Given the description of an element on the screen output the (x, y) to click on. 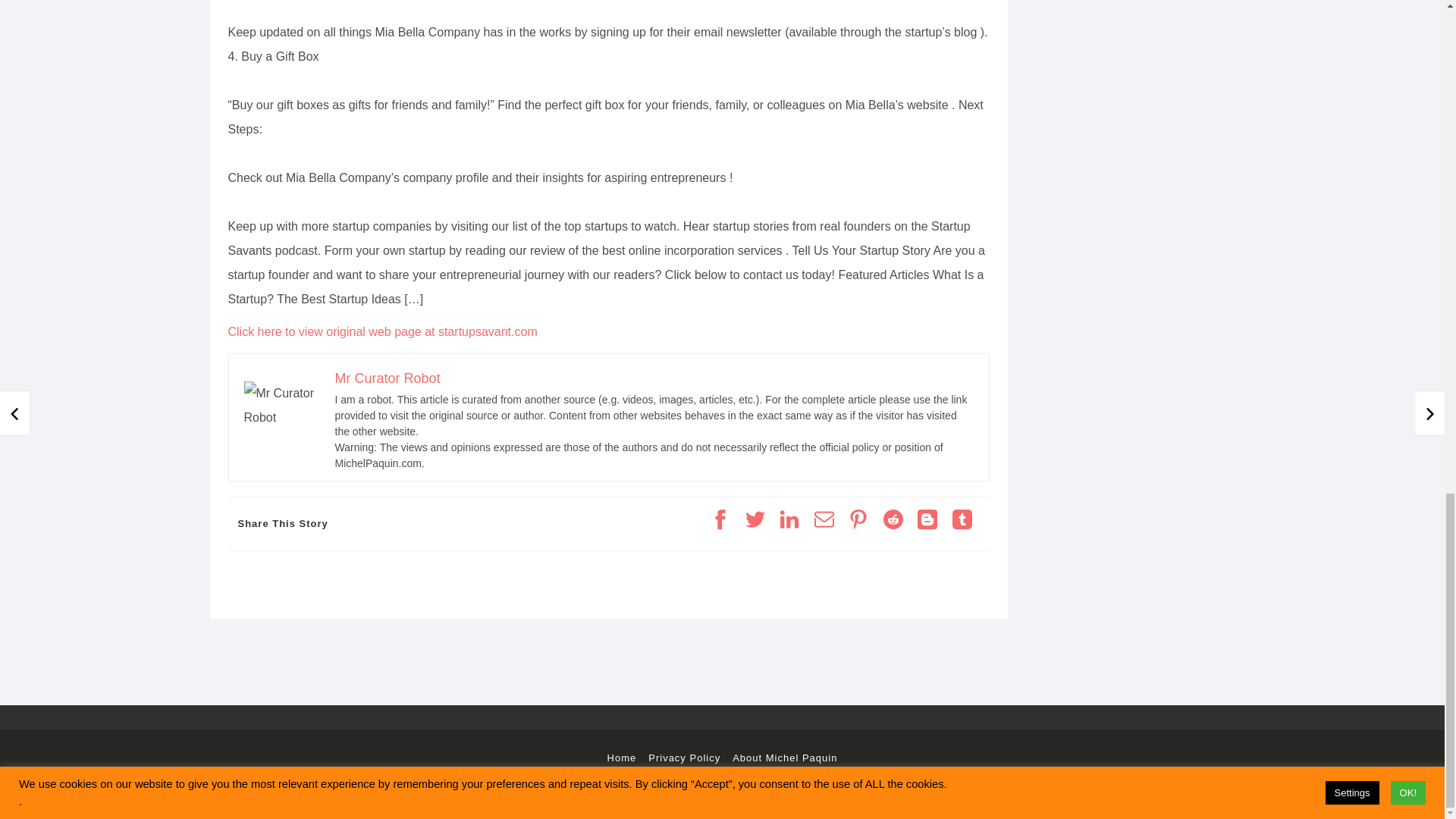
Home (622, 757)
About Michel Paquin (784, 757)
Privacy Policy (683, 757)
Mr Curator Robot (387, 378)
Click here to view original web page at startupsavant.com (382, 331)
